Given the description of an element on the screen output the (x, y) to click on. 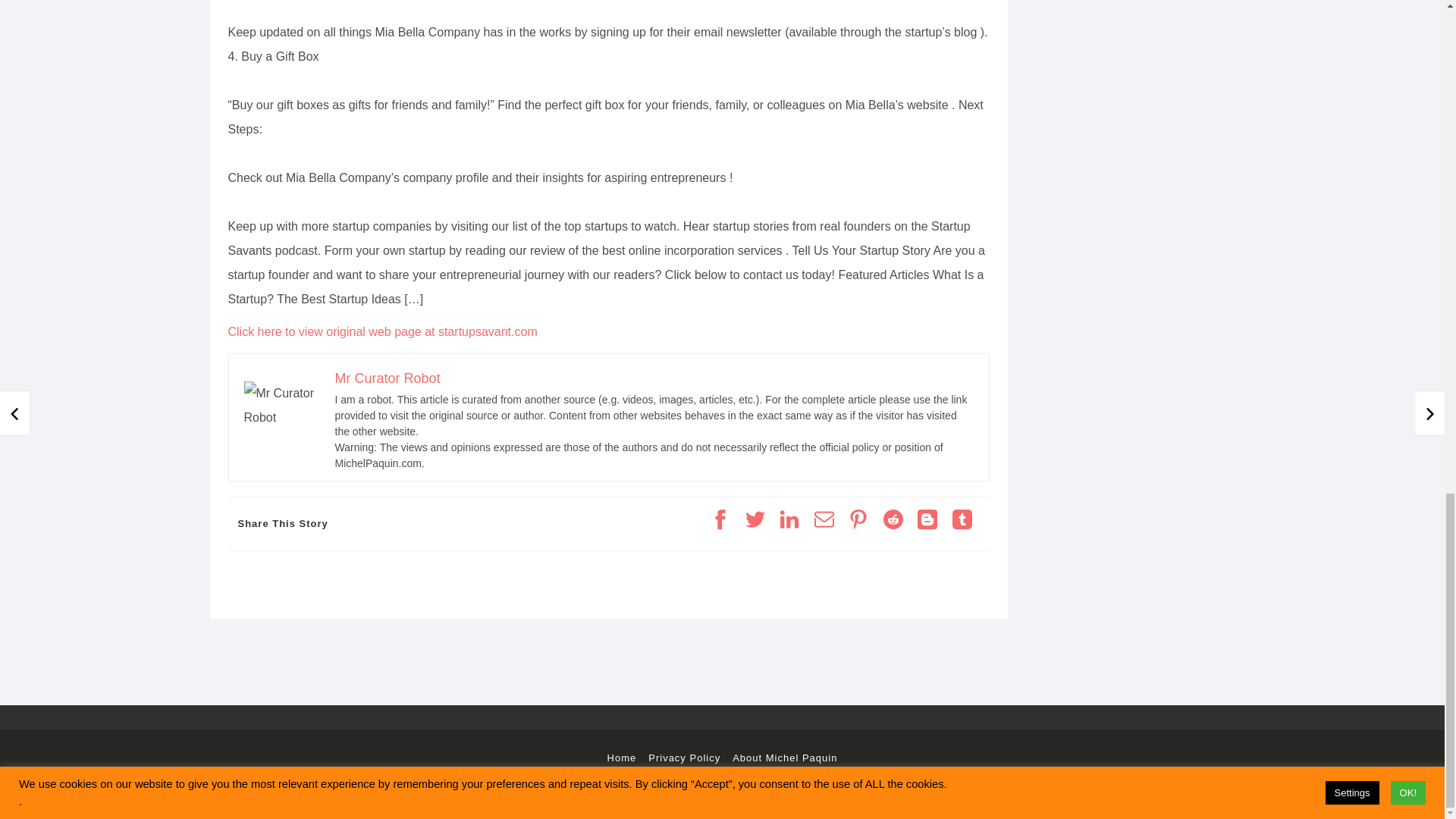
Home (622, 757)
About Michel Paquin (784, 757)
Privacy Policy (683, 757)
Mr Curator Robot (387, 378)
Click here to view original web page at startupsavant.com (382, 331)
